Given the description of an element on the screen output the (x, y) to click on. 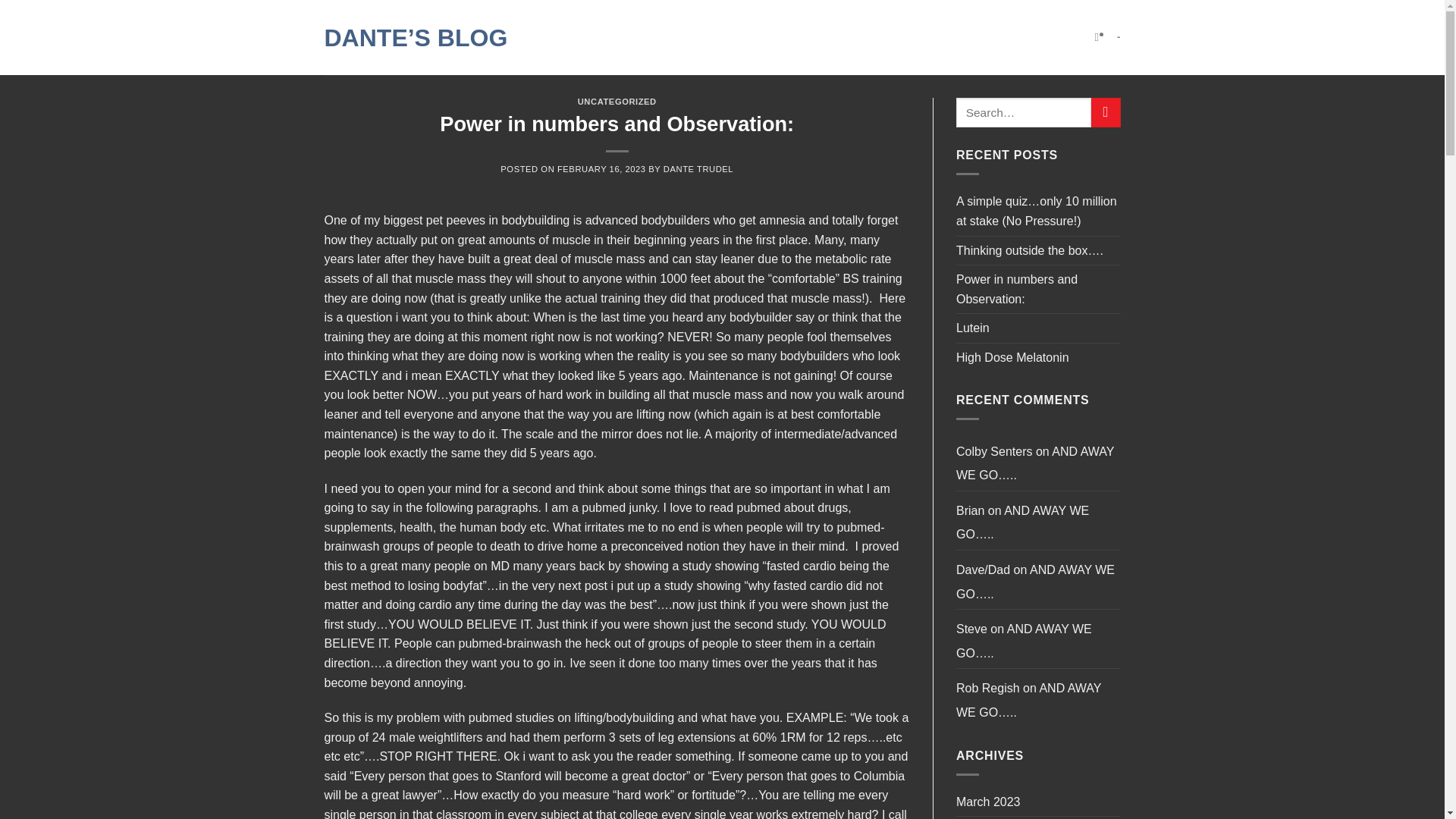
Lutein (973, 328)
February 2023 (995, 817)
UNCATEGORIZED (617, 101)
Power in numbers and Observation: (1038, 288)
Brian (970, 510)
March 2023 (988, 801)
FEBRUARY 16, 2023 (601, 168)
DANTE TRUDEL (698, 168)
High Dose Melatonin (1012, 357)
